Given the description of an element on the screen output the (x, y) to click on. 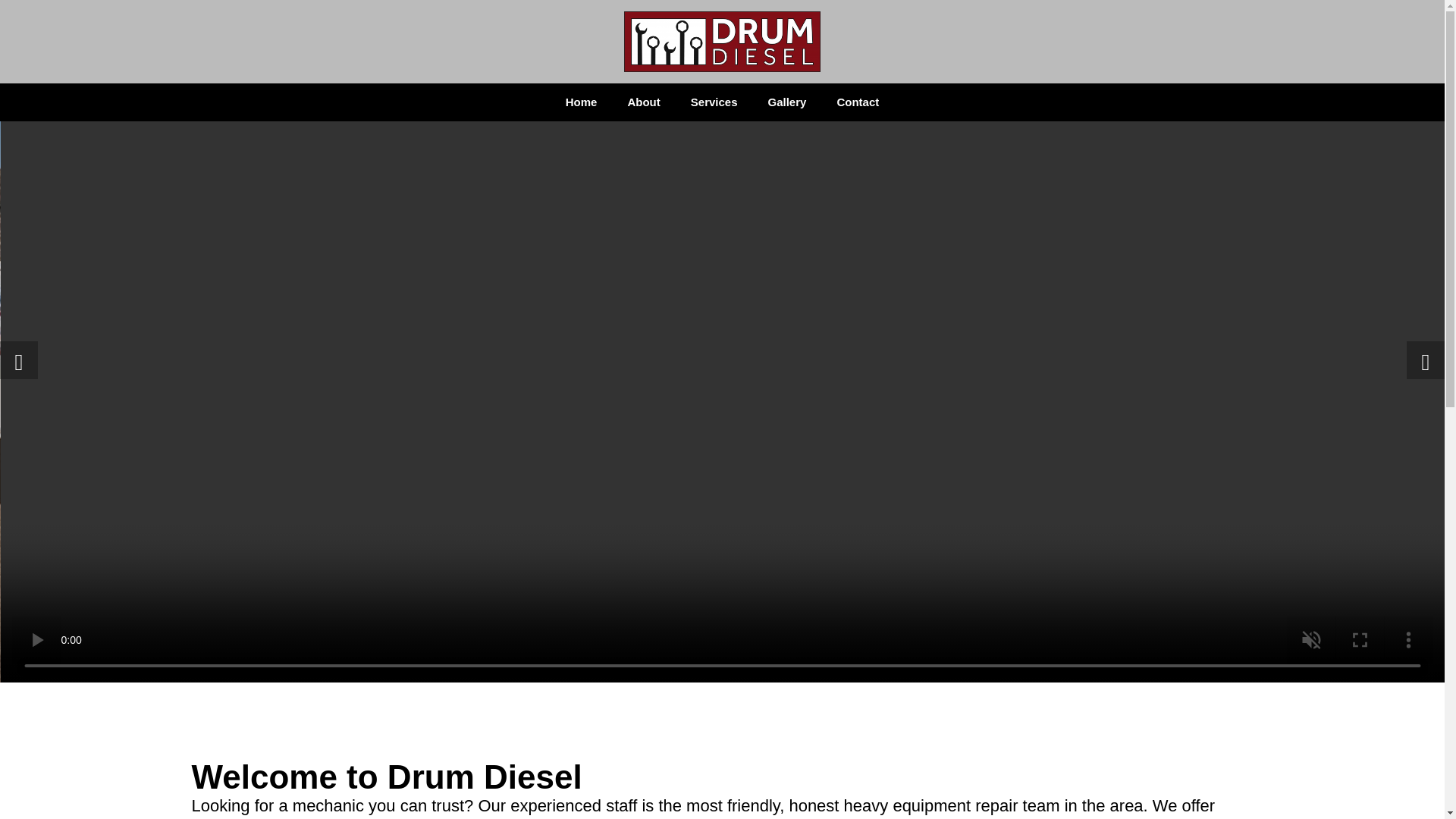
Gallery (787, 102)
Contact (857, 102)
Services (714, 102)
